Given the description of an element on the screen output the (x, y) to click on. 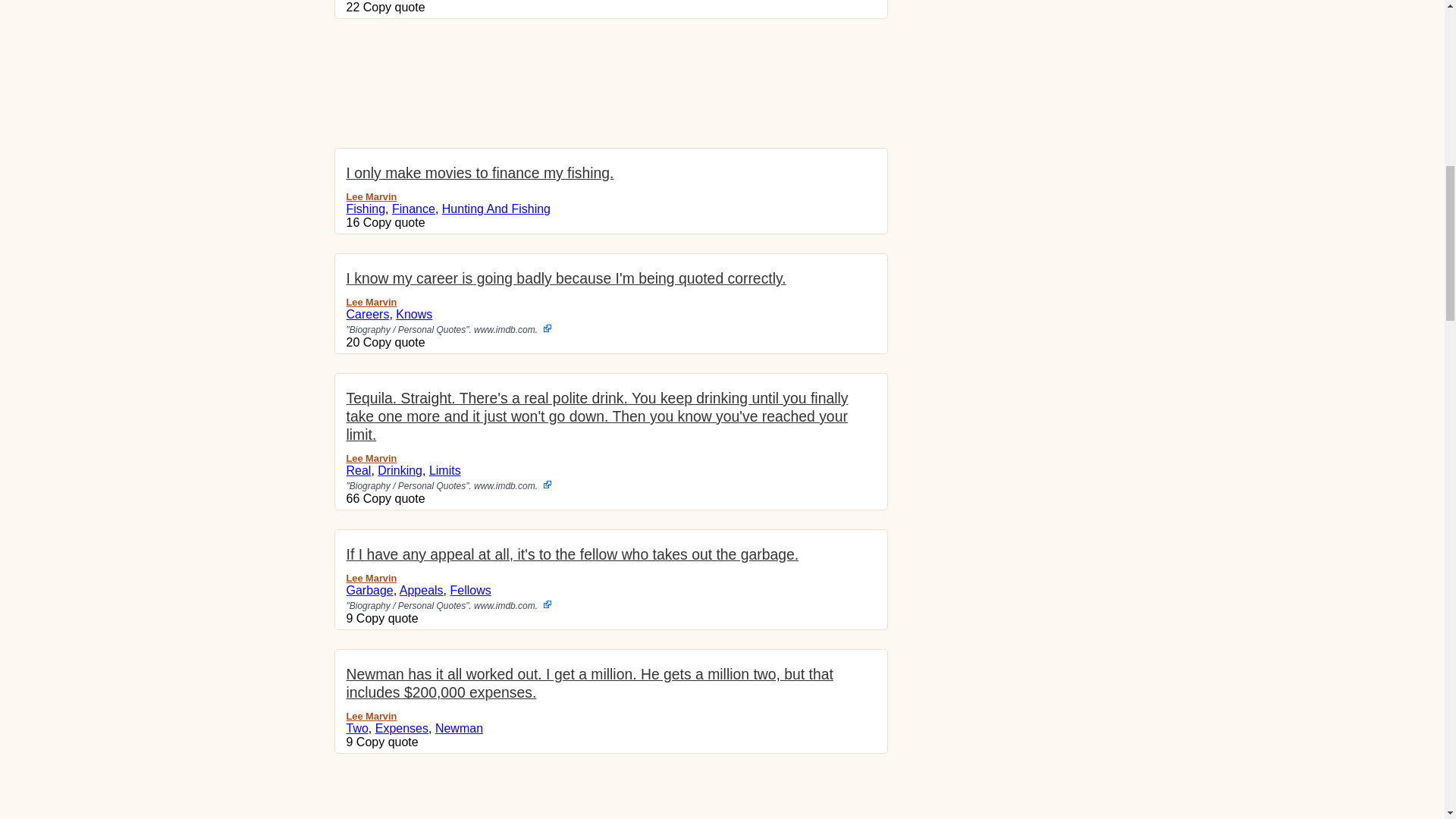
Quote is copied (393, 222)
Quote is copied (387, 741)
Quote is copied (393, 341)
Quote is copied (393, 6)
Quote is copied (387, 617)
Quote is copied (393, 498)
